Given the description of an element on the screen output the (x, y) to click on. 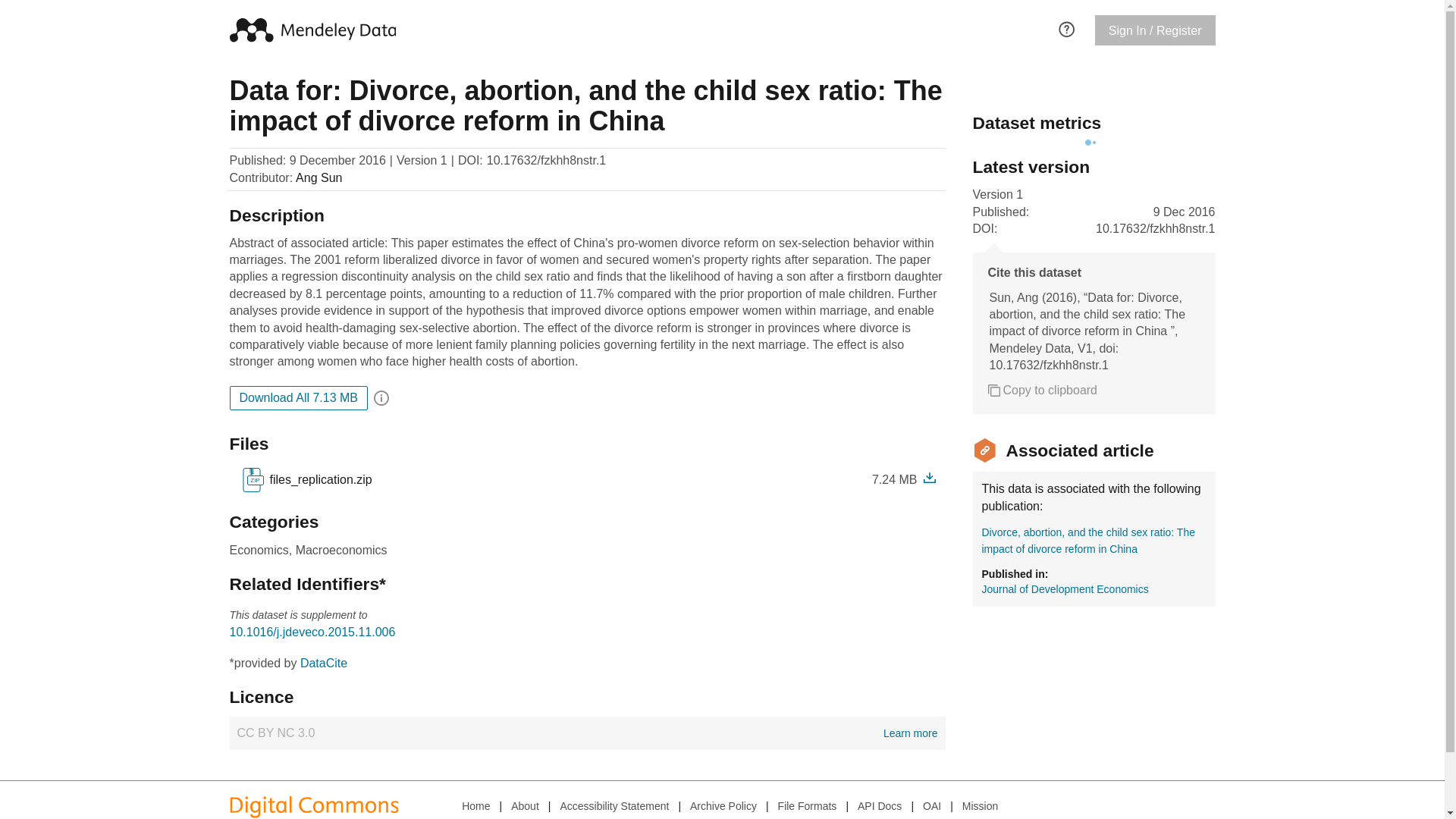
API Docs (879, 805)
About (524, 805)
Home (475, 805)
FAQ (1066, 27)
OAI (931, 805)
DataCite (323, 662)
Download All 7.13 MB (298, 397)
Terms of Use (489, 817)
Cookie Notice (649, 817)
File Formats (807, 805)
Accessibility Statement (613, 805)
Archive Policy (723, 805)
Mission (979, 805)
Copy to clipboard (1042, 390)
